Given the description of an element on the screen output the (x, y) to click on. 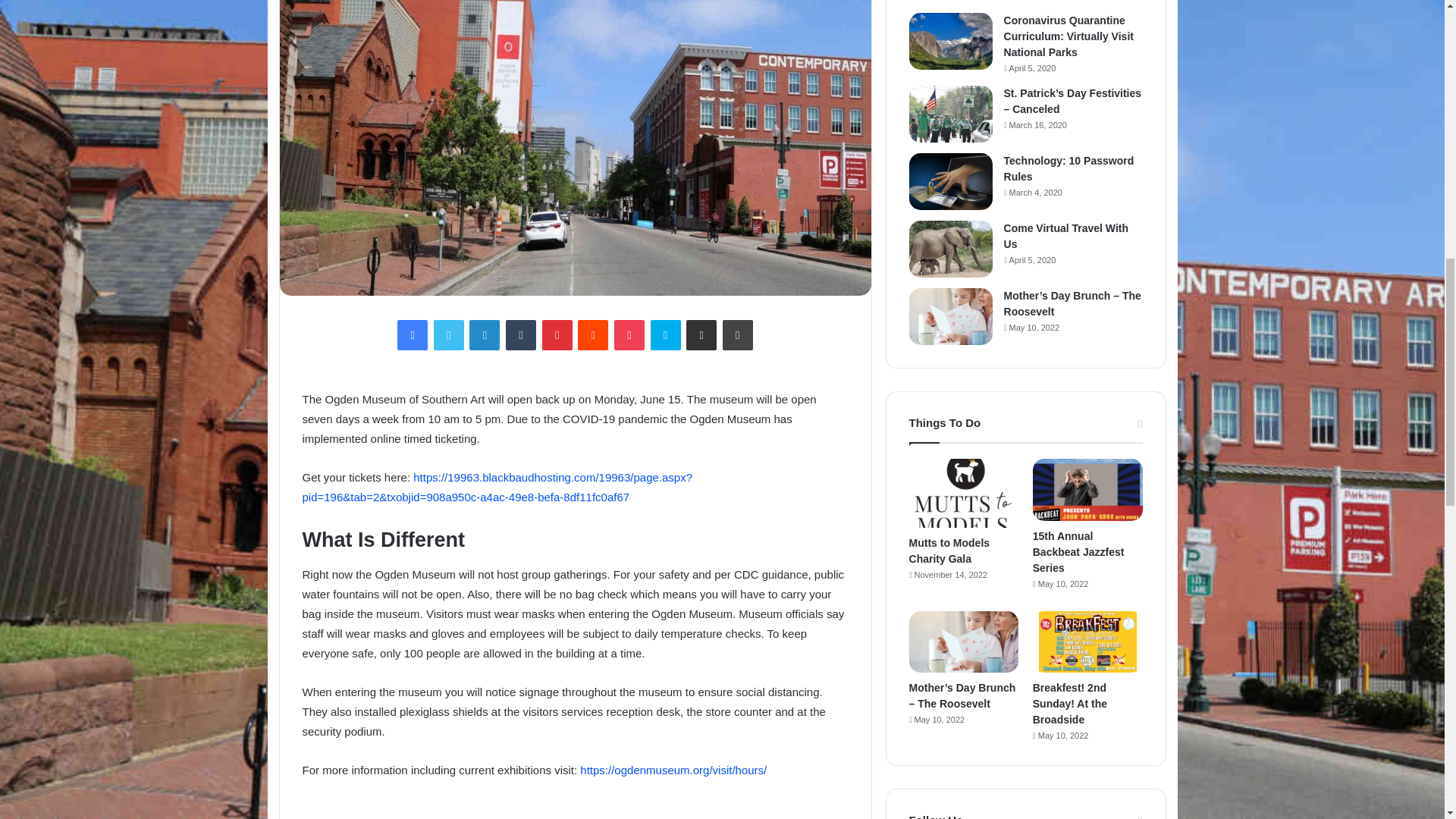
Skype (665, 335)
Pinterest (556, 335)
Tumblr (520, 335)
Facebook (412, 335)
Tumblr (520, 335)
LinkedIn (483, 335)
Skype (665, 335)
Twitter (448, 335)
Pocket (629, 335)
Print (737, 335)
Facebook (412, 335)
Reddit (593, 335)
LinkedIn (483, 335)
Print (737, 335)
Share via Email (700, 335)
